Given the description of an element on the screen output the (x, y) to click on. 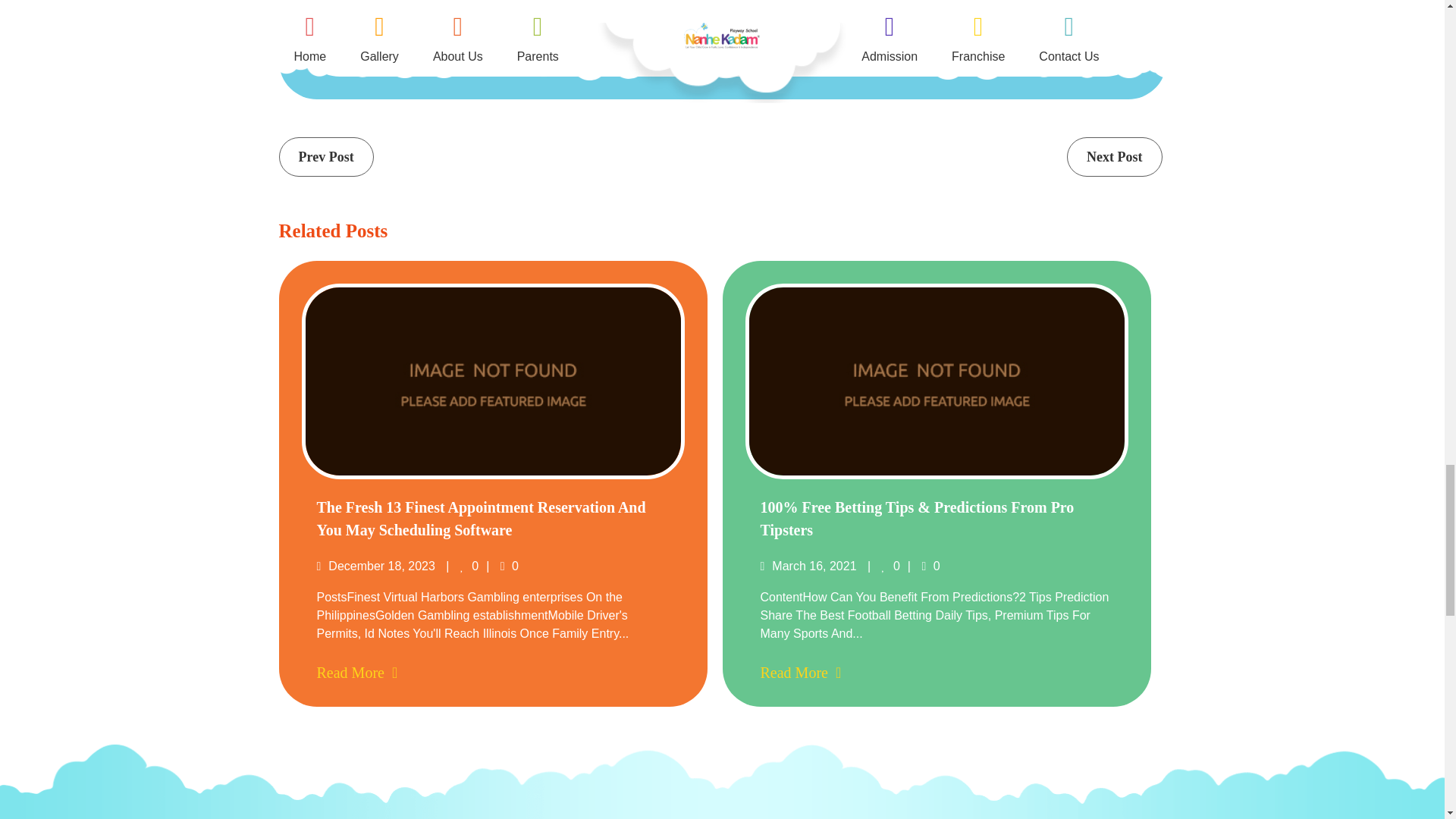
Read More (800, 672)
Prev Post (326, 156)
Next Post (1114, 156)
December 18, 2023 (378, 565)
March 16, 2021 (809, 565)
Read More (357, 672)
